Given the description of an element on the screen output the (x, y) to click on. 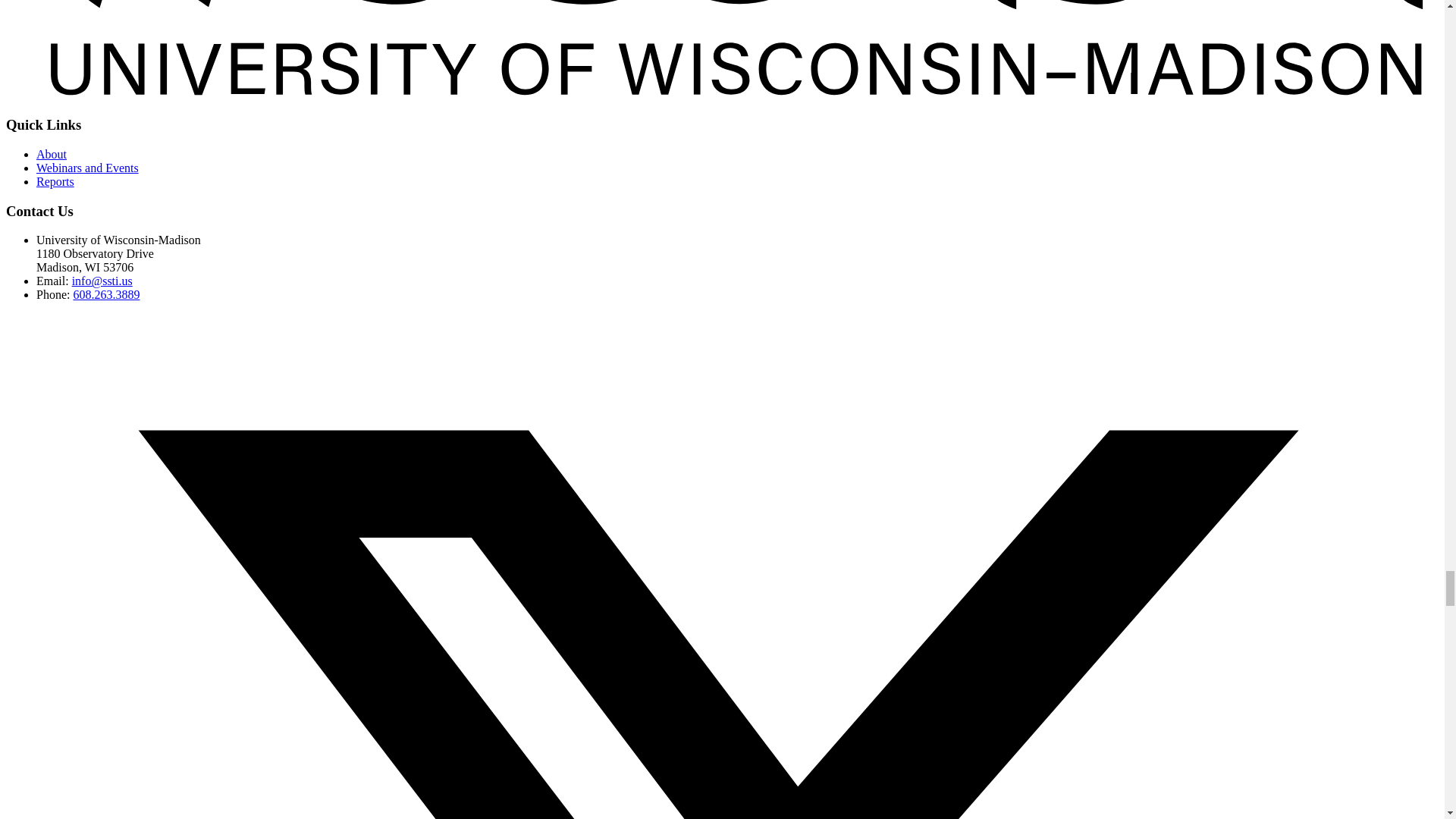
About (51, 154)
